Given the description of an element on the screen output the (x, y) to click on. 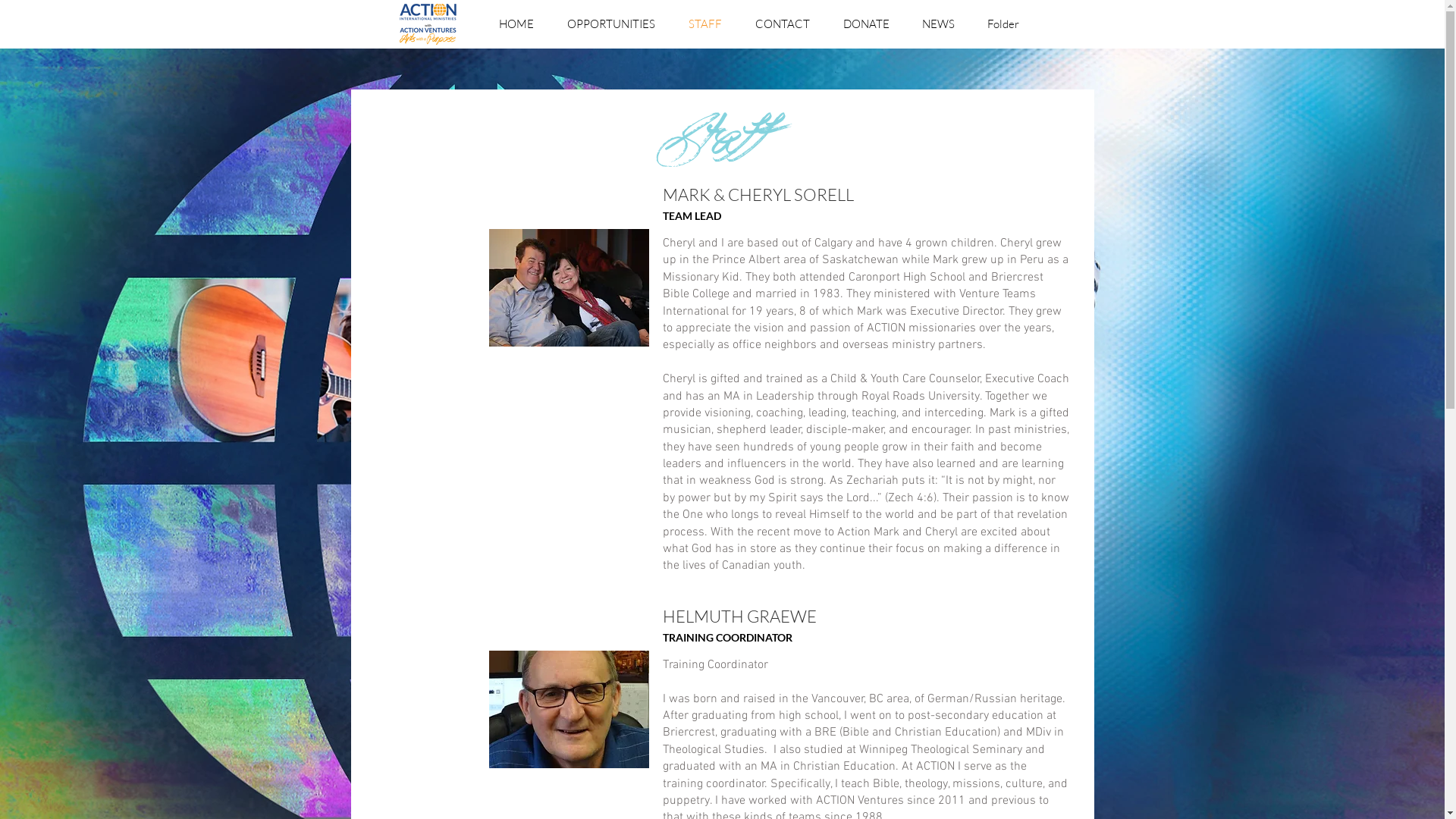
HOME Element type: text (516, 24)
OPPORTUNITIES Element type: text (610, 24)
DONATE Element type: text (866, 24)
CONTACT Element type: text (782, 24)
NEWS Element type: text (937, 24)
STAFF Element type: text (704, 24)
